Given the description of an element on the screen output the (x, y) to click on. 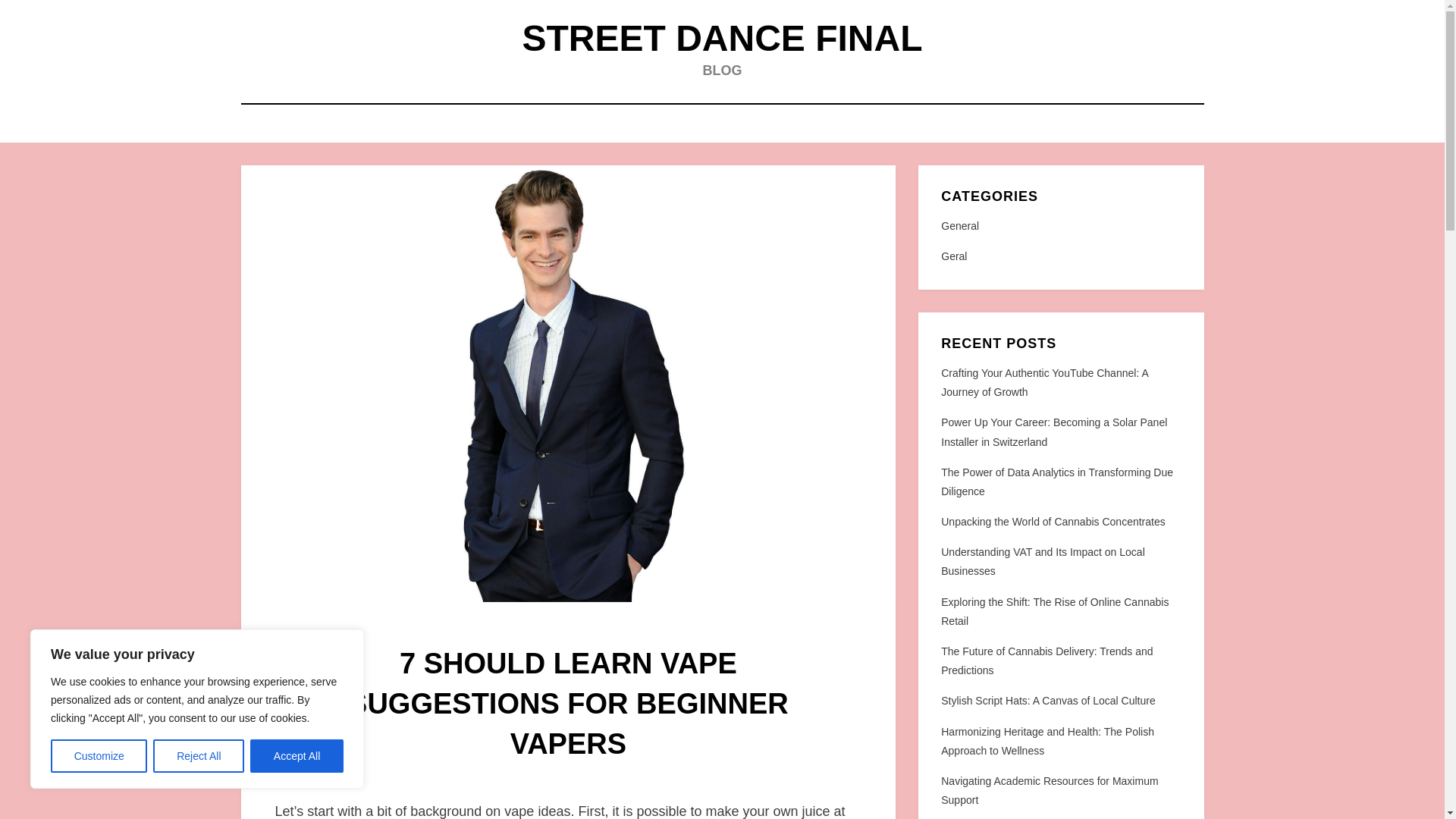
Unpacking the World of Cannabis Concentrates (1052, 521)
Street Dance Final (721, 38)
Customize (98, 756)
Accept All (296, 756)
Reject All (198, 756)
Understanding VAT and Its Impact on Local Businesses (1042, 561)
Geral (1060, 256)
Crafting Your Authentic YouTube Channel: A Journey of Growth (1044, 382)
The Power of Data Analytics in Transforming Due Diligence (1056, 481)
